Given the description of an element on the screen output the (x, y) to click on. 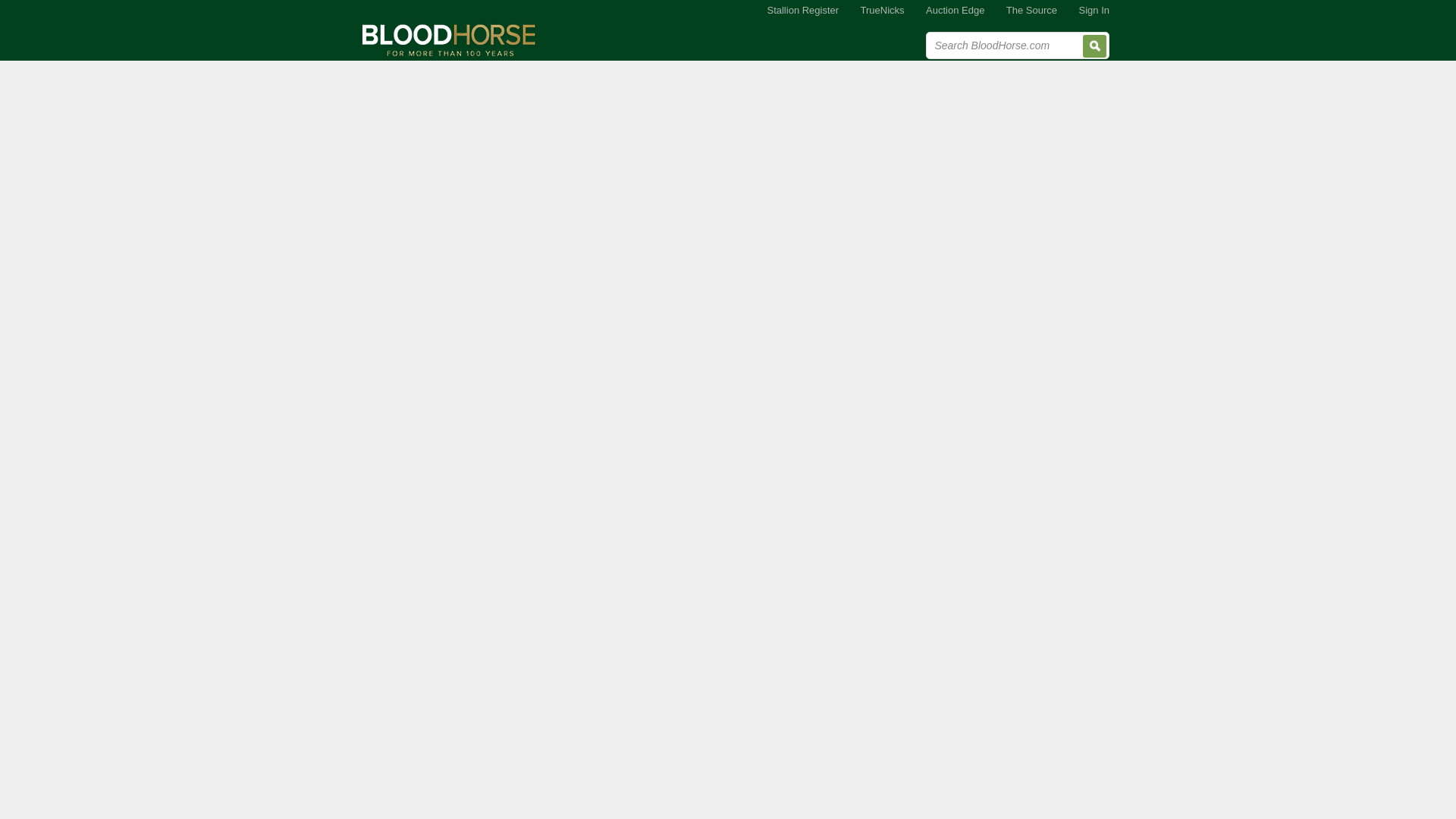
TrueNicks (882, 10)
Sign In (1094, 10)
Blood-Horse: Thoroughbred Horse Racing News (449, 40)
Search (1094, 46)
The Source (1031, 10)
Search (1094, 46)
Auction Edge (954, 10)
Stallion Register (802, 10)
